Given the description of an element on the screen output the (x, y) to click on. 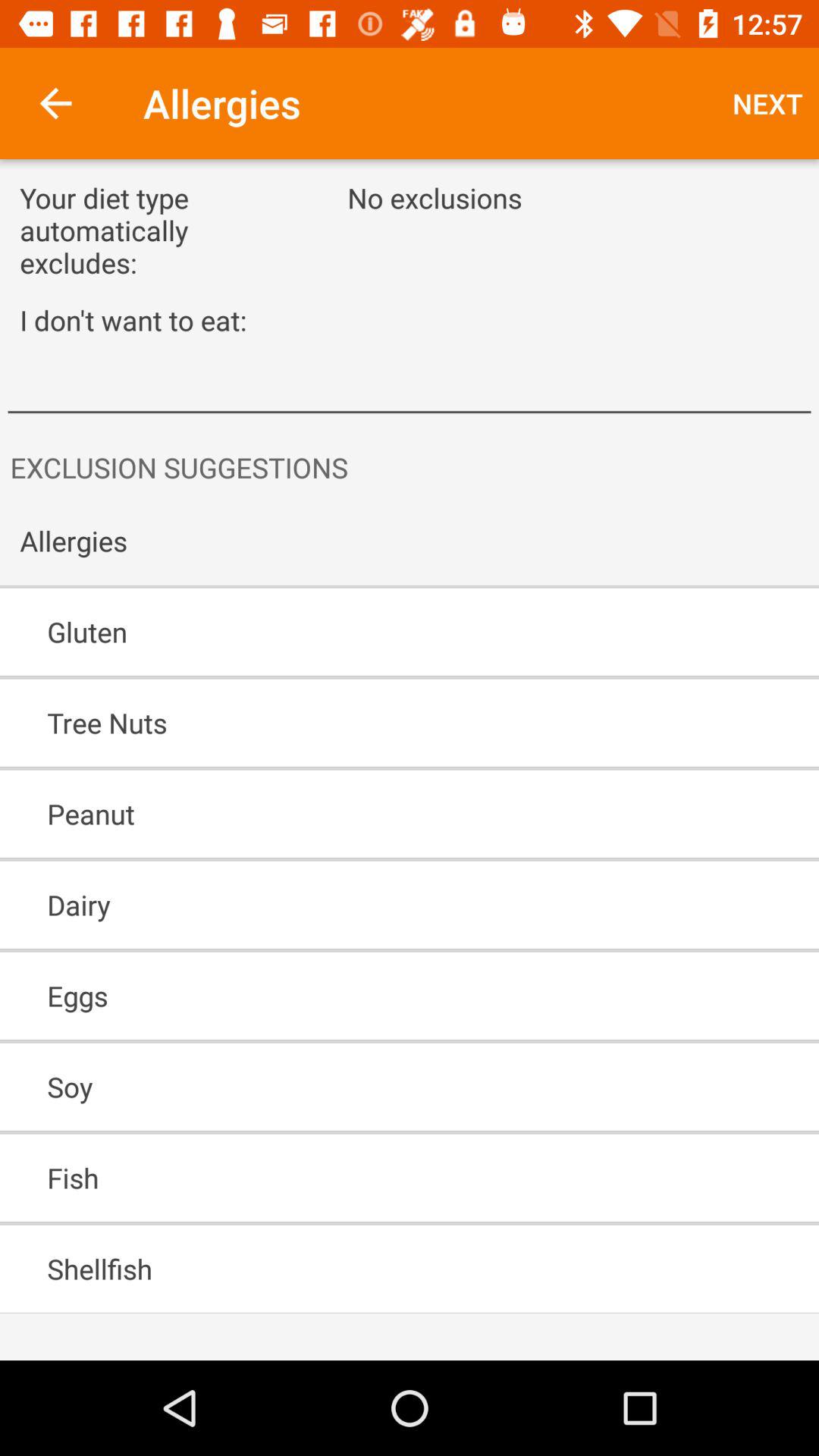
turn on the     peanut icon (365, 813)
